Given the description of an element on the screen output the (x, y) to click on. 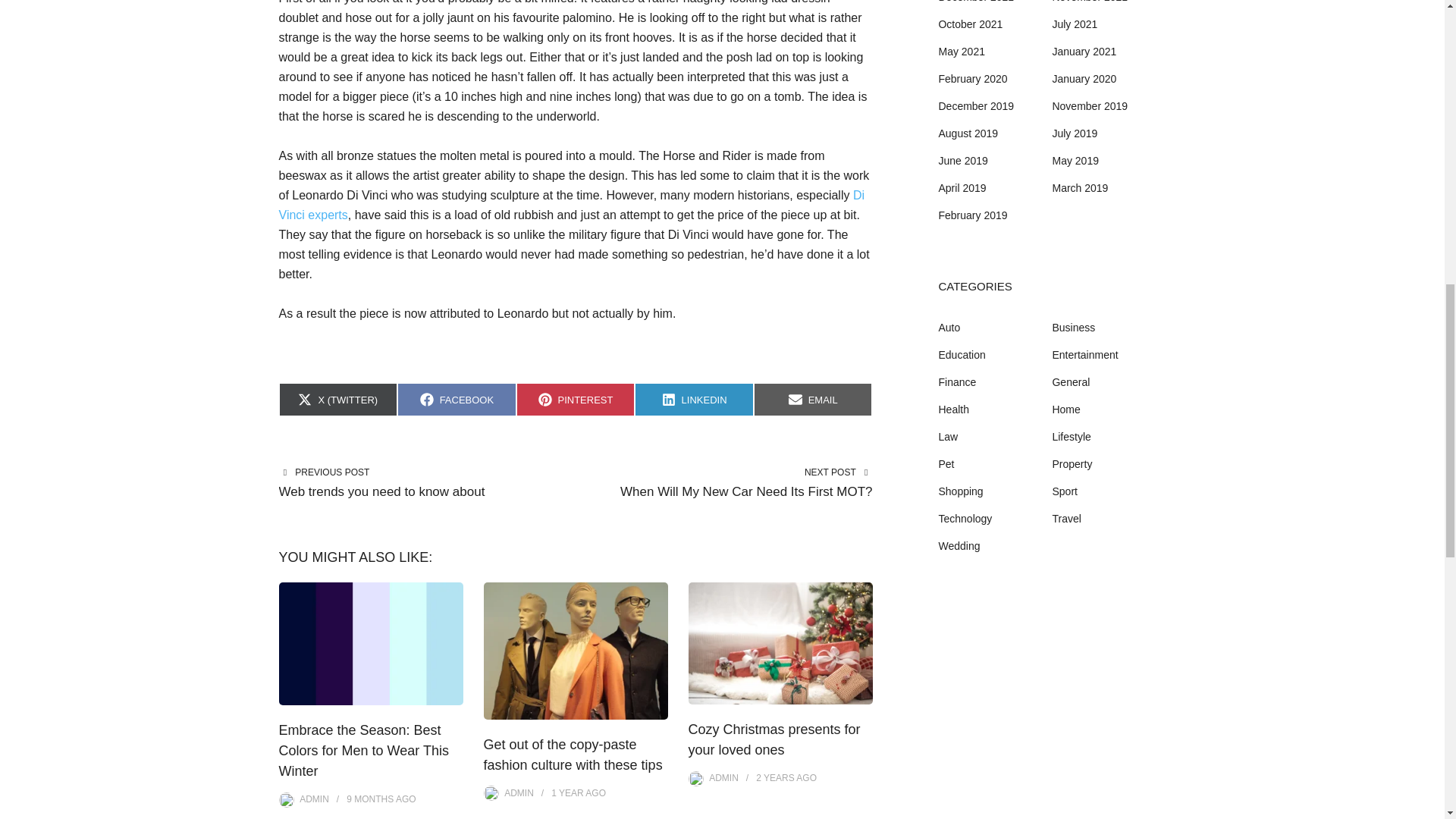
1 YEAR (567, 792)
ADMIN (314, 798)
When Will My New Car Need Its First MOT? (694, 399)
Embrace the Season: Best Colors for Men to Wear This Winter (813, 399)
ADMIN (728, 492)
Web trends you need to know about (363, 750)
ADMIN (518, 792)
